Given the description of an element on the screen output the (x, y) to click on. 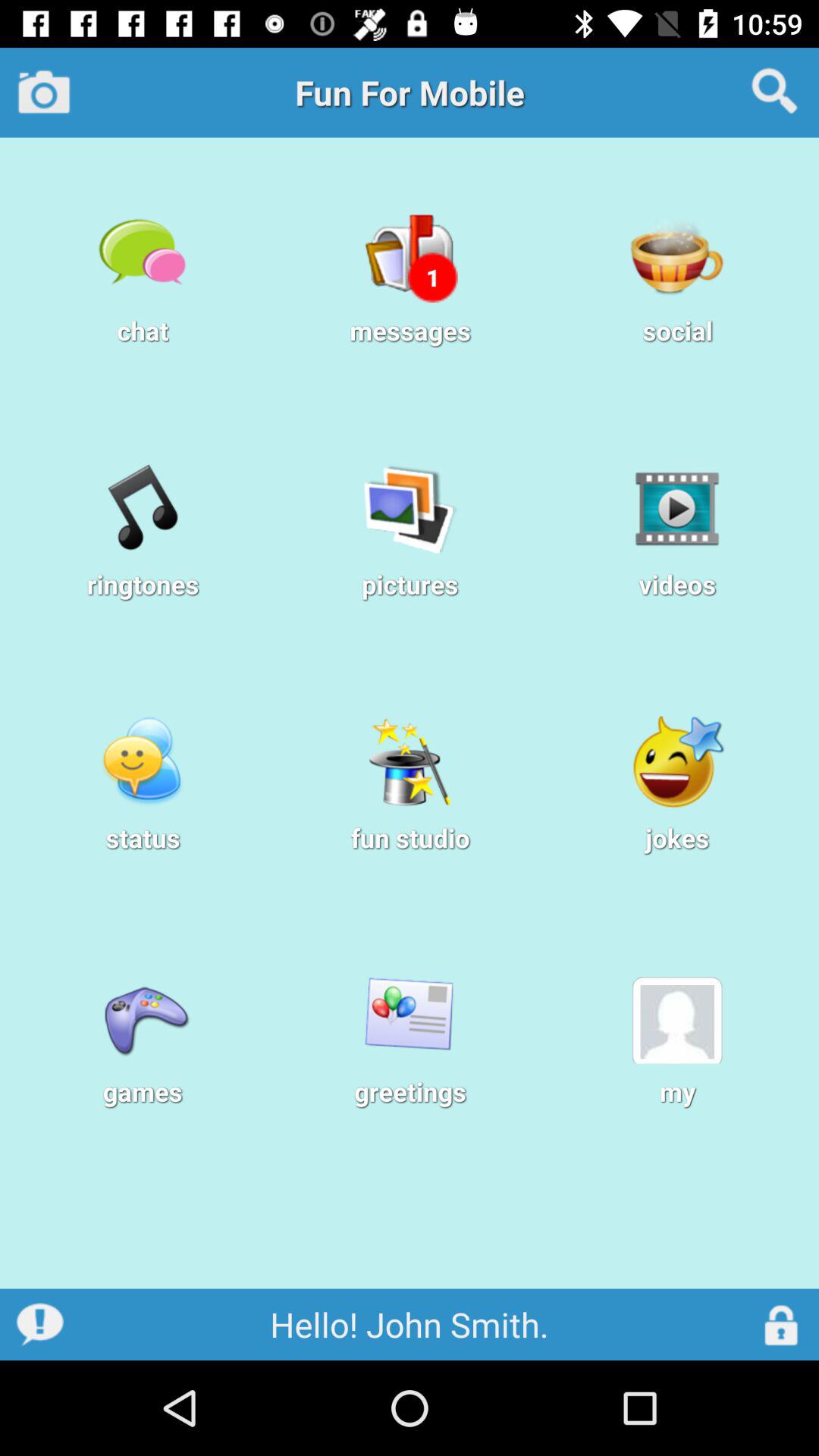
click the icon below fun for mobile item (432, 277)
